Given the description of an element on the screen output the (x, y) to click on. 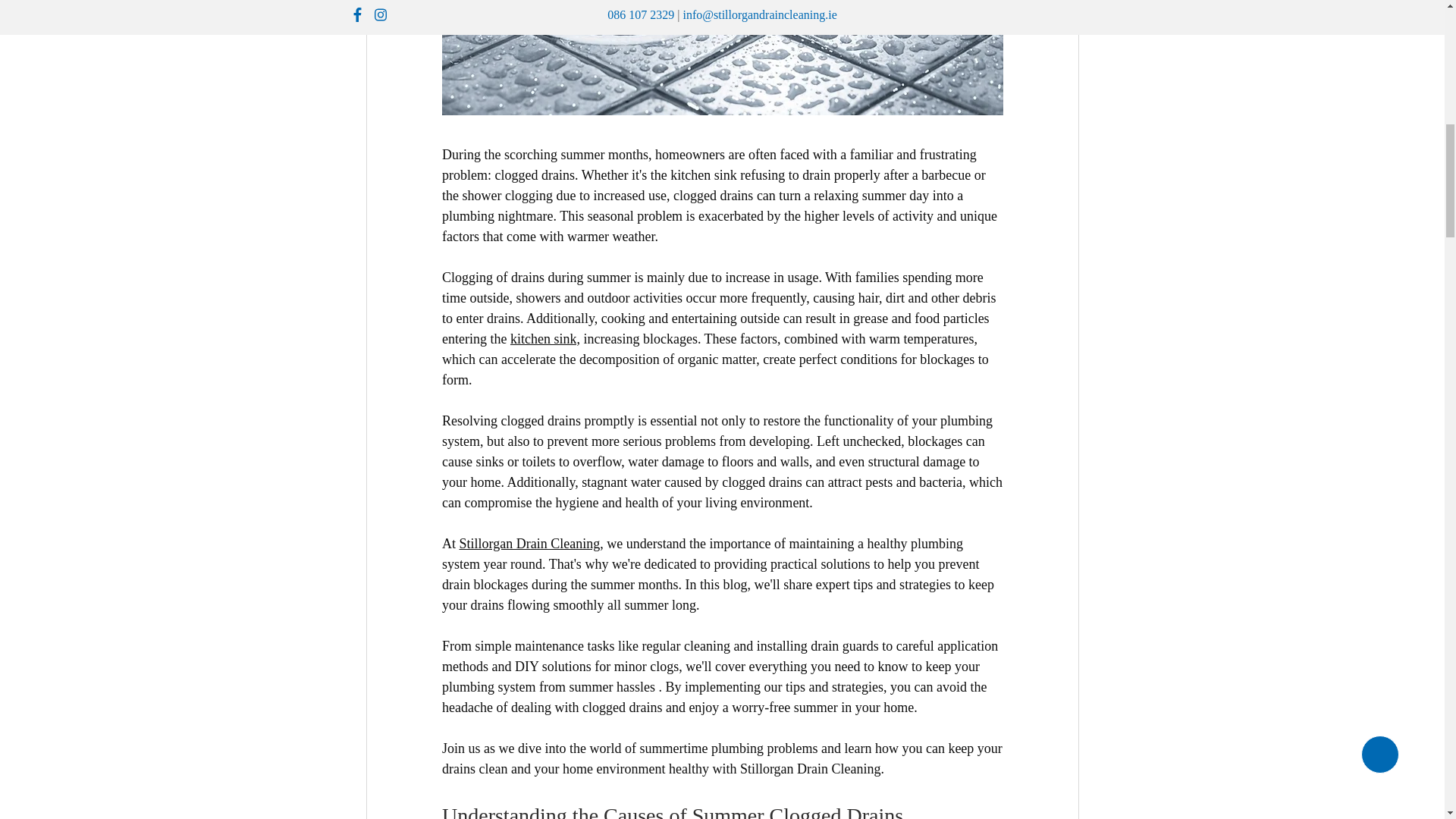
kitchen sink (542, 338)
Stillorgan Drain Cleaning (528, 543)
